Given the description of an element on the screen output the (x, y) to click on. 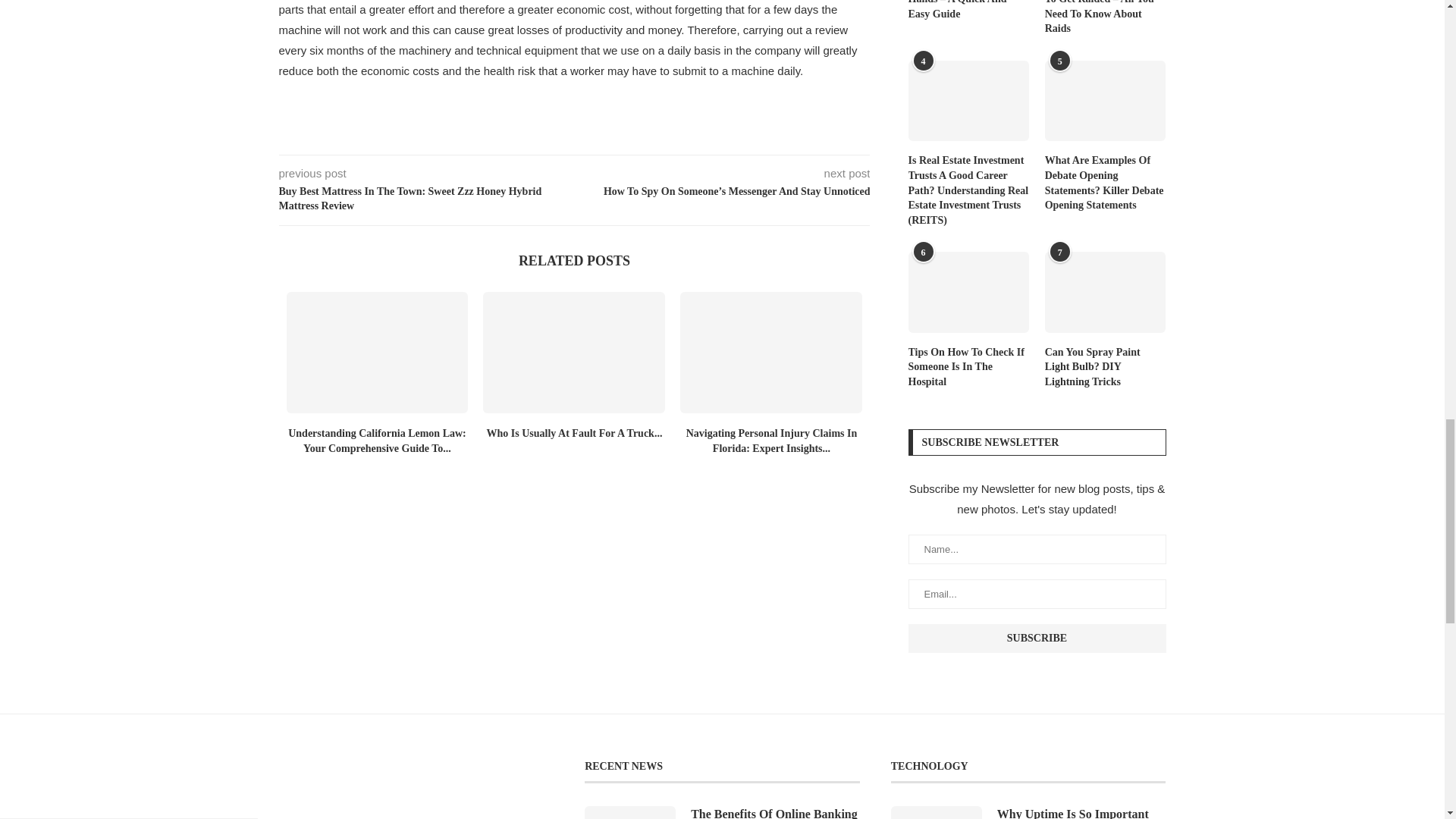
Who Is Usually At Fault For A Truck Accident? (574, 352)
Subscribe (1037, 638)
Who Is Usually At Fault For A Truck... (574, 432)
